Given the description of an element on the screen output the (x, y) to click on. 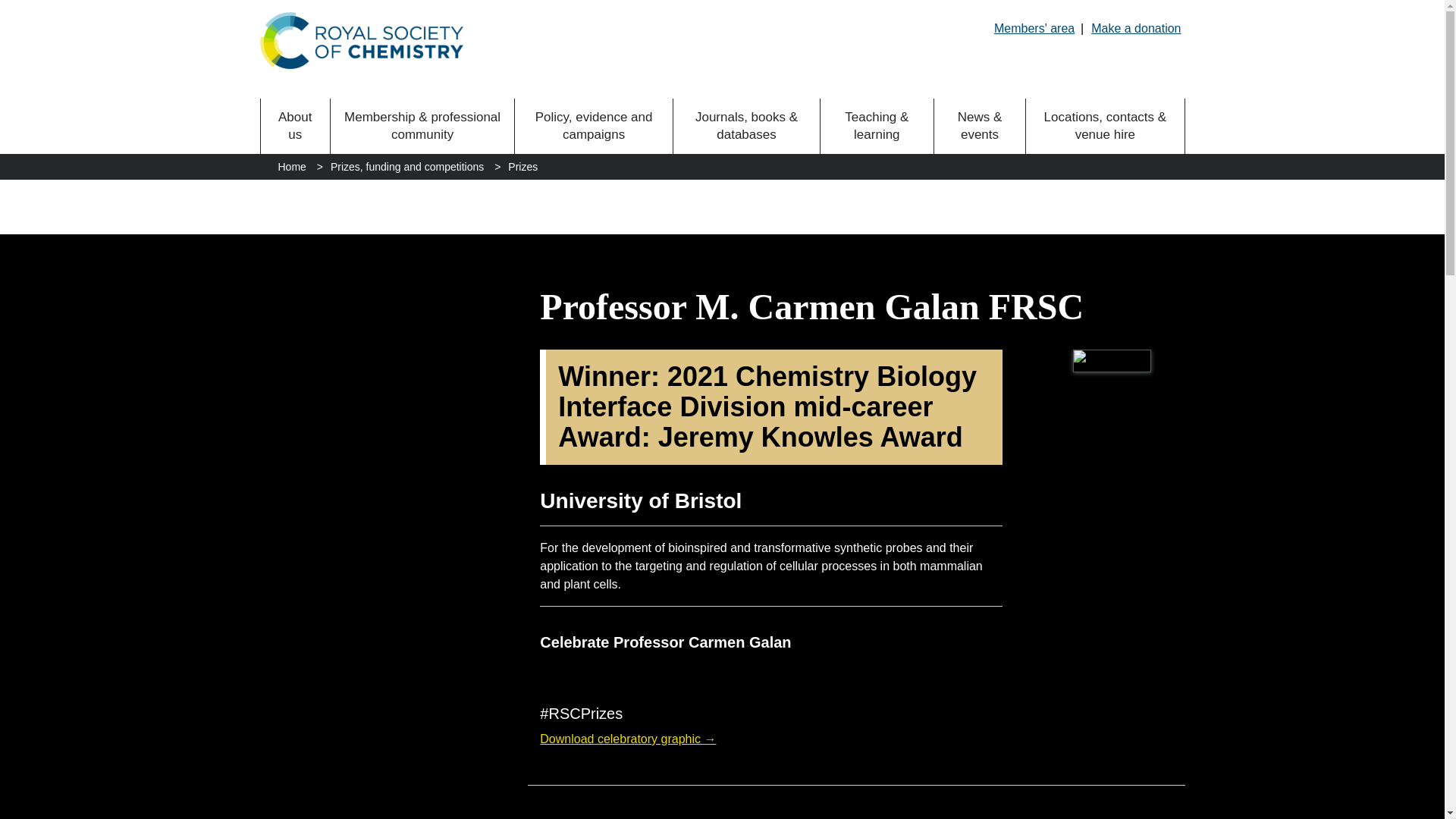
LinkedIn (602, 672)
icon (627, 672)
Home (291, 166)
Prizes (522, 166)
Royal Society of Chemistry (361, 40)
Members' area (1034, 28)
Twitter (577, 672)
FB (552, 672)
Policy, evidence and campaigns (593, 125)
About us (295, 125)
